Given the description of an element on the screen output the (x, y) to click on. 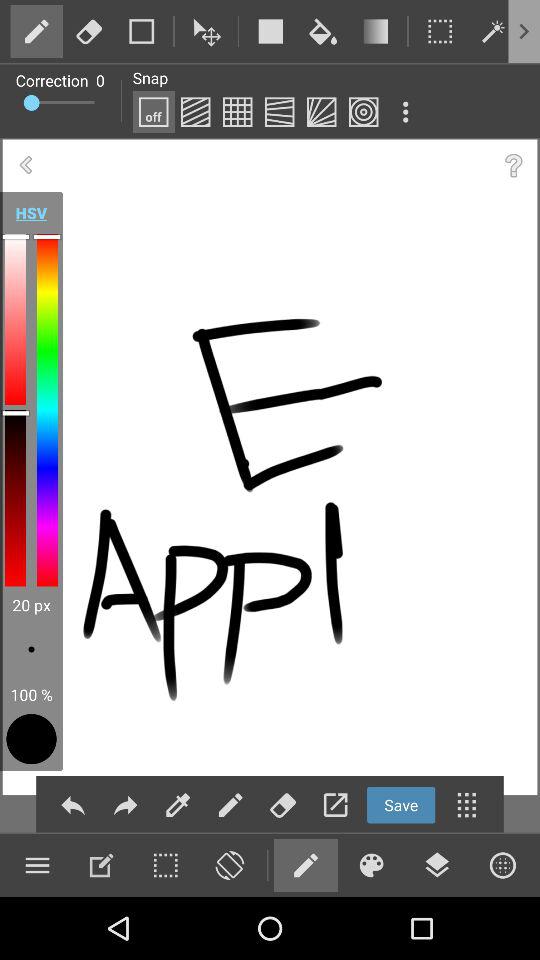
click for rectangular selection (440, 31)
